Given the description of an element on the screen output the (x, y) to click on. 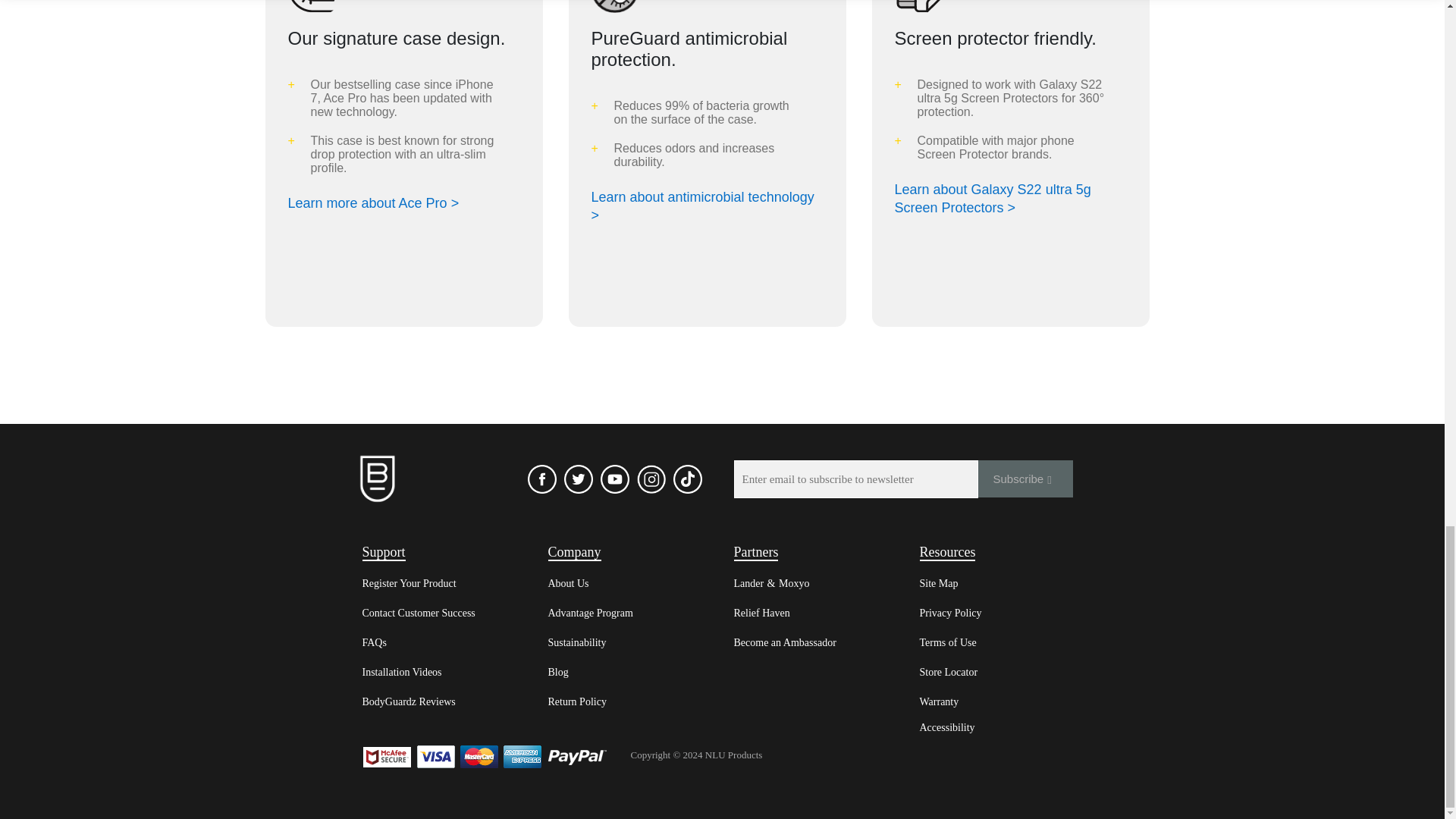
Moxyo (793, 583)
Store Locator (947, 672)
Lander (748, 583)
